Given the description of an element on the screen output the (x, y) to click on. 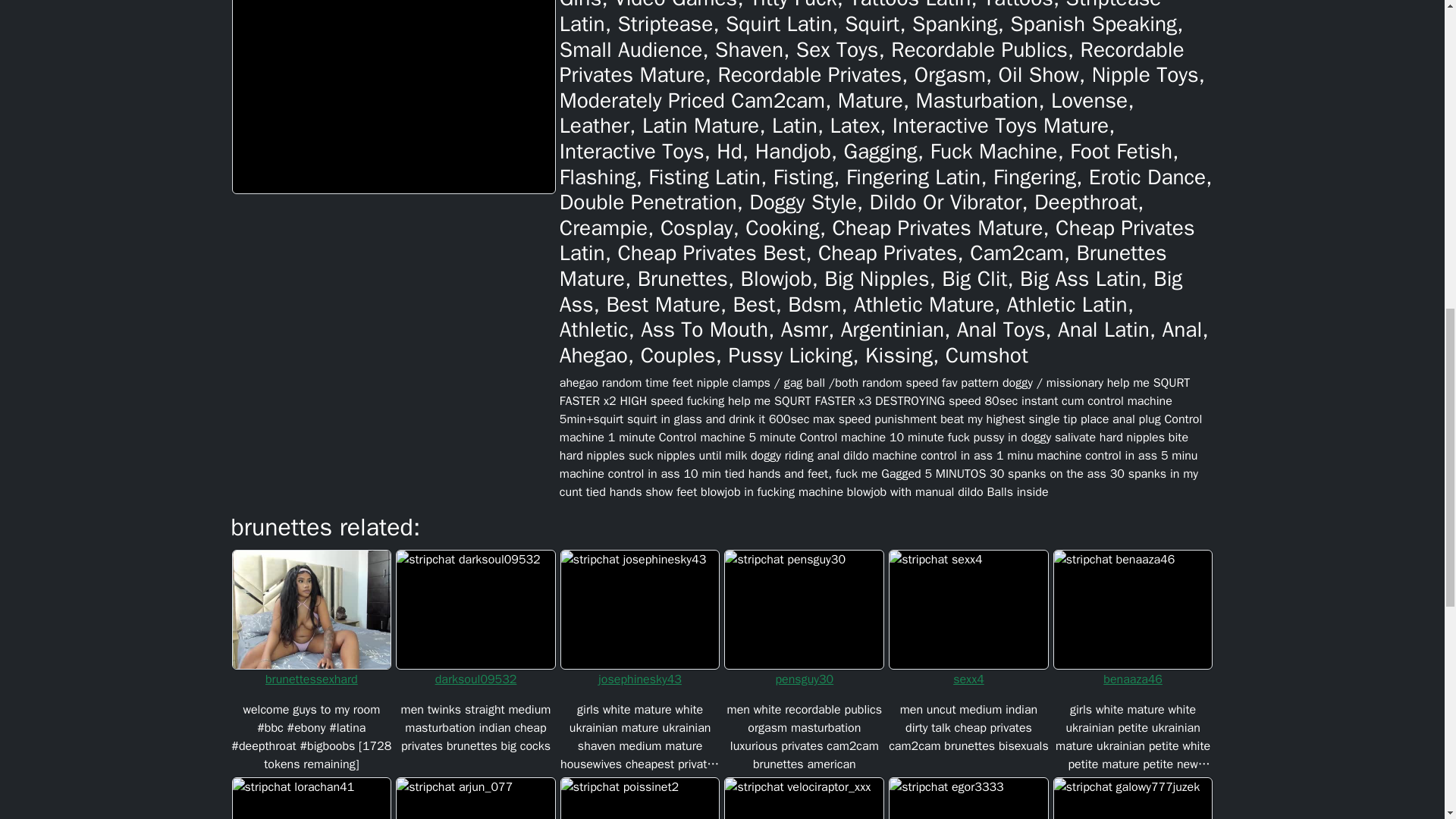
brunettessexhard (310, 679)
pensguy30 (804, 679)
benaaza46 (1133, 679)
darksoul09532 (475, 679)
sexx4 (968, 679)
josephinesky43 (639, 679)
